Given the description of an element on the screen output the (x, y) to click on. 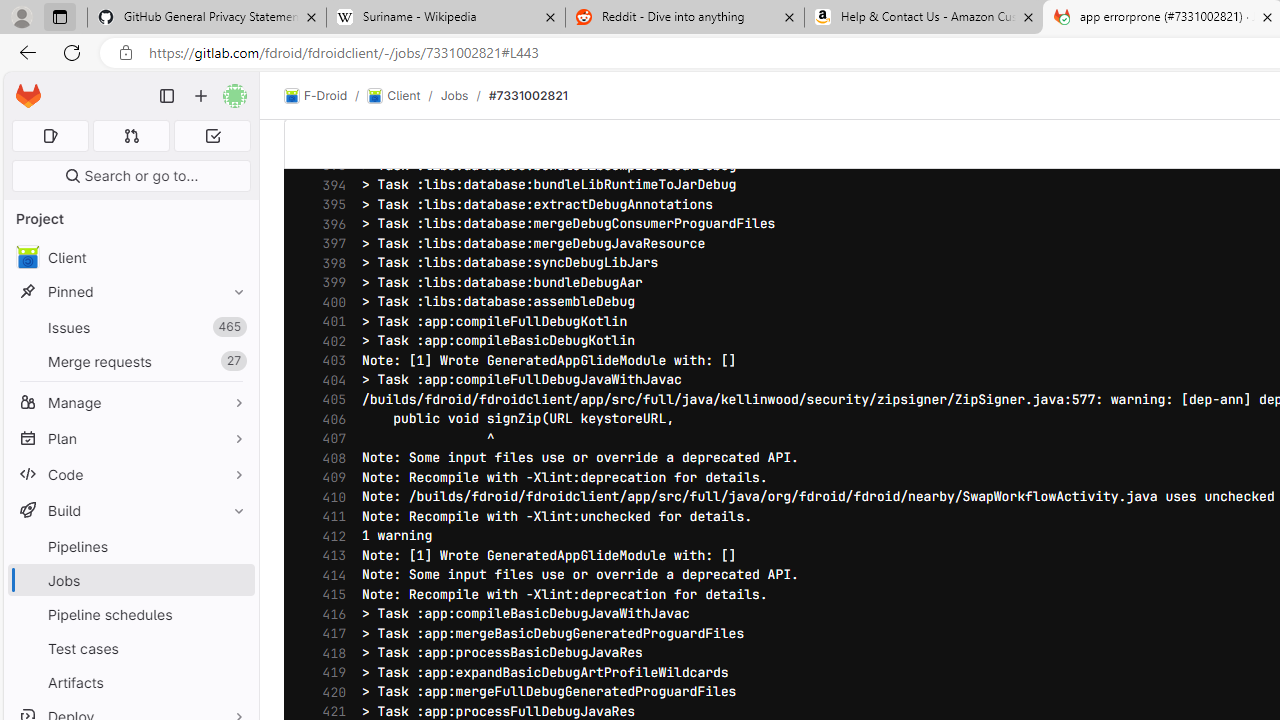
Reddit - Dive into anything (684, 17)
Merge requests27 (130, 361)
Manage (130, 402)
393 (329, 165)
394 (329, 184)
Unpin Merge requests (234, 361)
F-Droid/ (326, 96)
419 (329, 673)
399 (329, 282)
Jobs/ (464, 95)
Skip to main content (23, 87)
395 (329, 205)
Pipelines (130, 546)
